Given the description of an element on the screen output the (x, y) to click on. 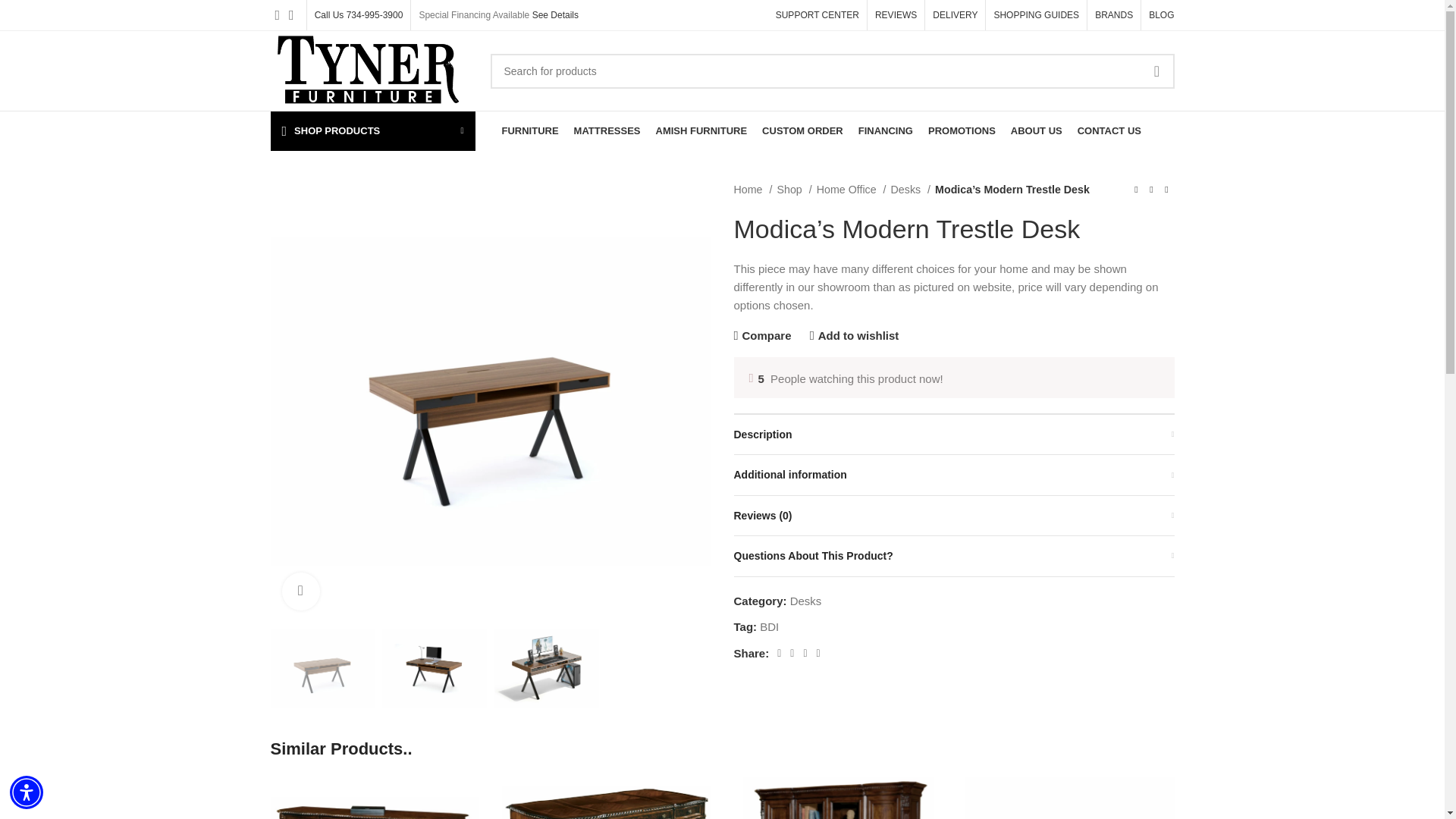
SHOPPING GUIDES (1035, 15)
See Details (555, 14)
Accessibility Menu (26, 792)
DELIVERY (954, 15)
SUPPORT CENTER (817, 15)
BRANDS (1113, 15)
REVIEWS (896, 15)
Call Us 734-995-3900 (358, 14)
Search for products (831, 70)
SEARCH (1155, 70)
